Given the description of an element on the screen output the (x, y) to click on. 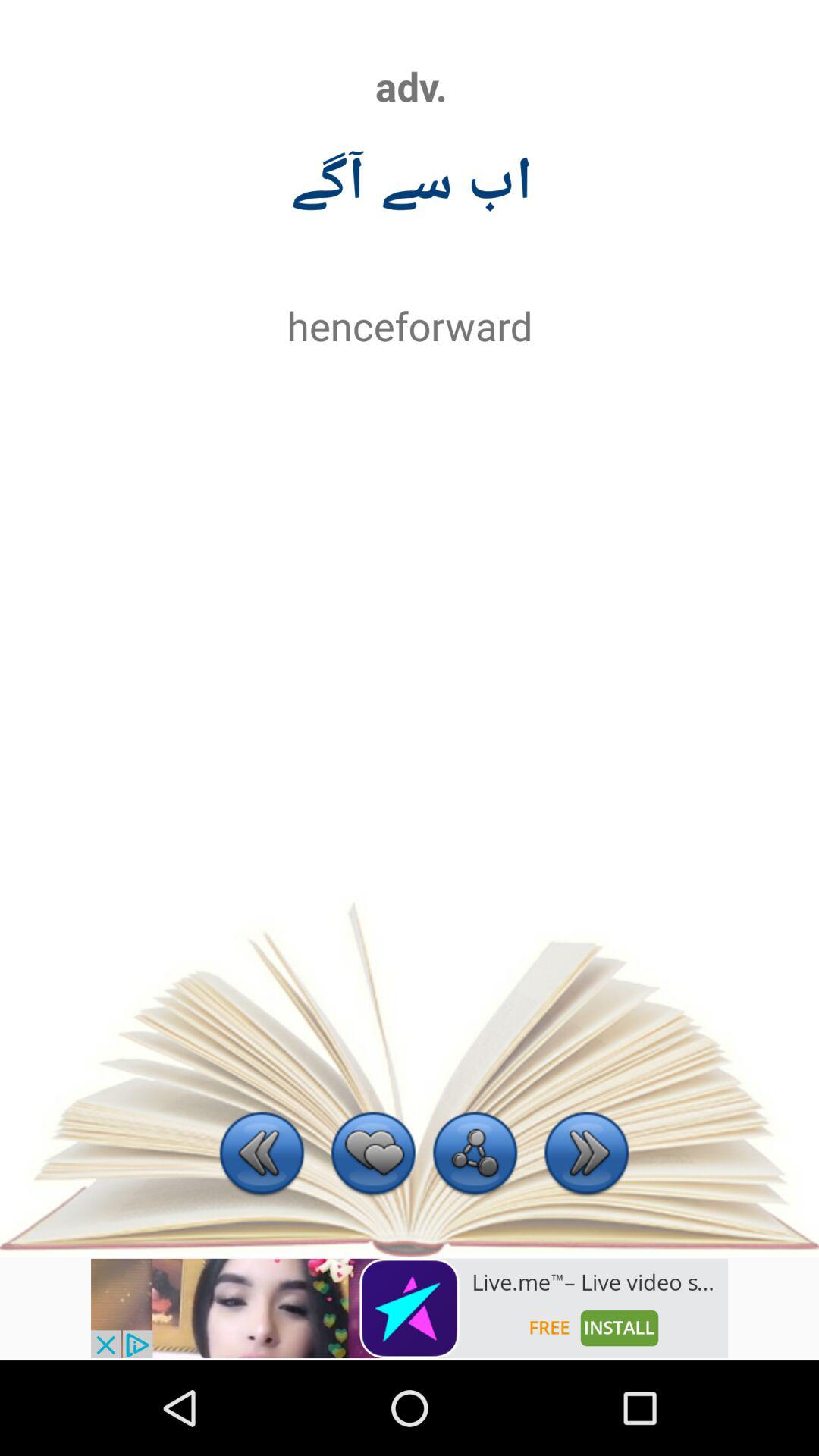
favorite the current item (373, 1155)
